Given the description of an element on the screen output the (x, y) to click on. 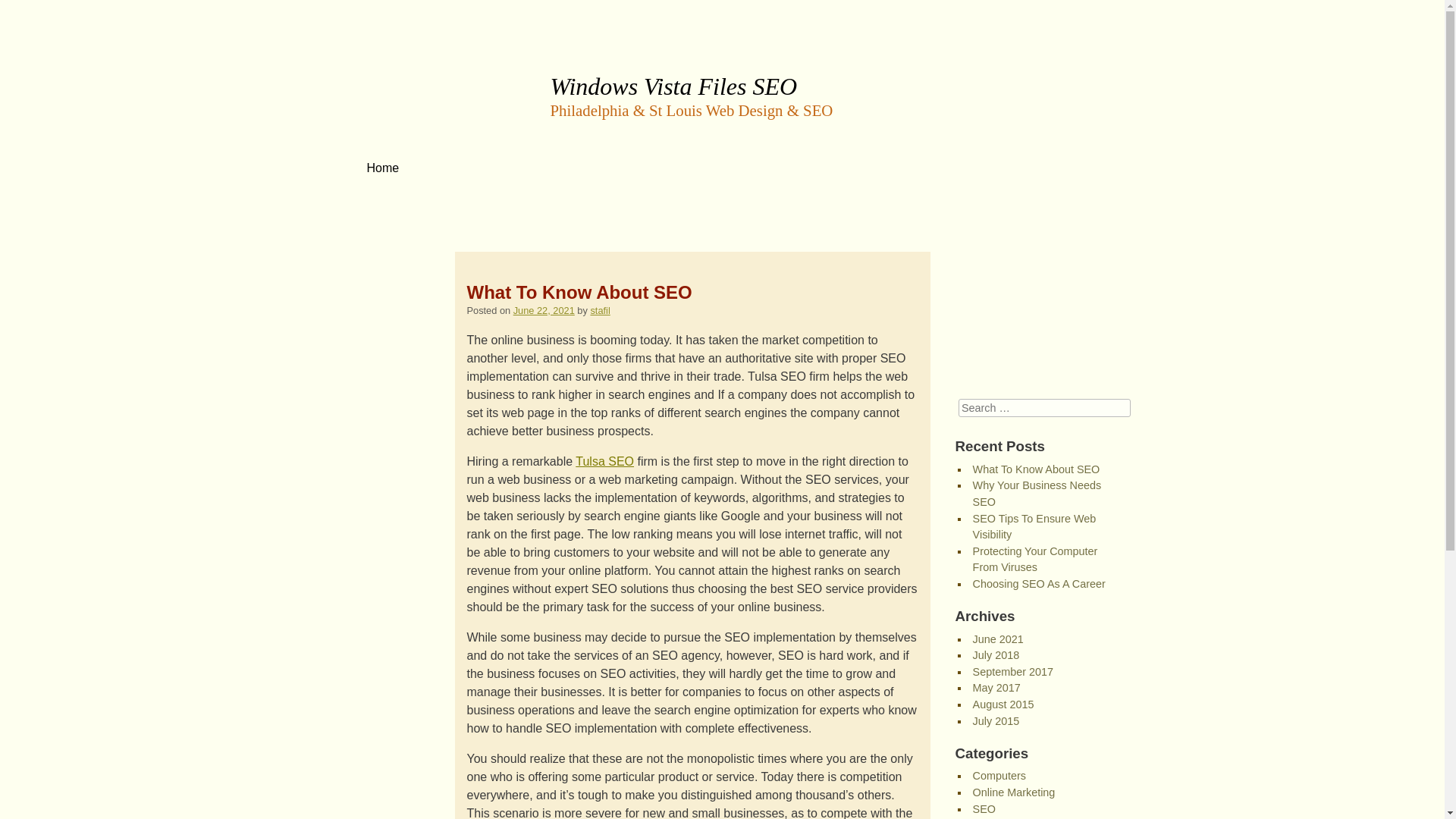
August 2015 (1002, 704)
June 22, 2021 (544, 310)
Computers (999, 775)
July 2015 (996, 720)
Online Marketing (1013, 792)
stafil (599, 310)
View all posts by stafil (599, 310)
Windows Vista Files SEO (673, 73)
What To Know About SEO (1036, 469)
Choosing SEO As A Career (1038, 583)
Search (22, 7)
May 2017 (996, 687)
SEO (983, 808)
Home (382, 167)
July 2018 (996, 654)
